Given the description of an element on the screen output the (x, y) to click on. 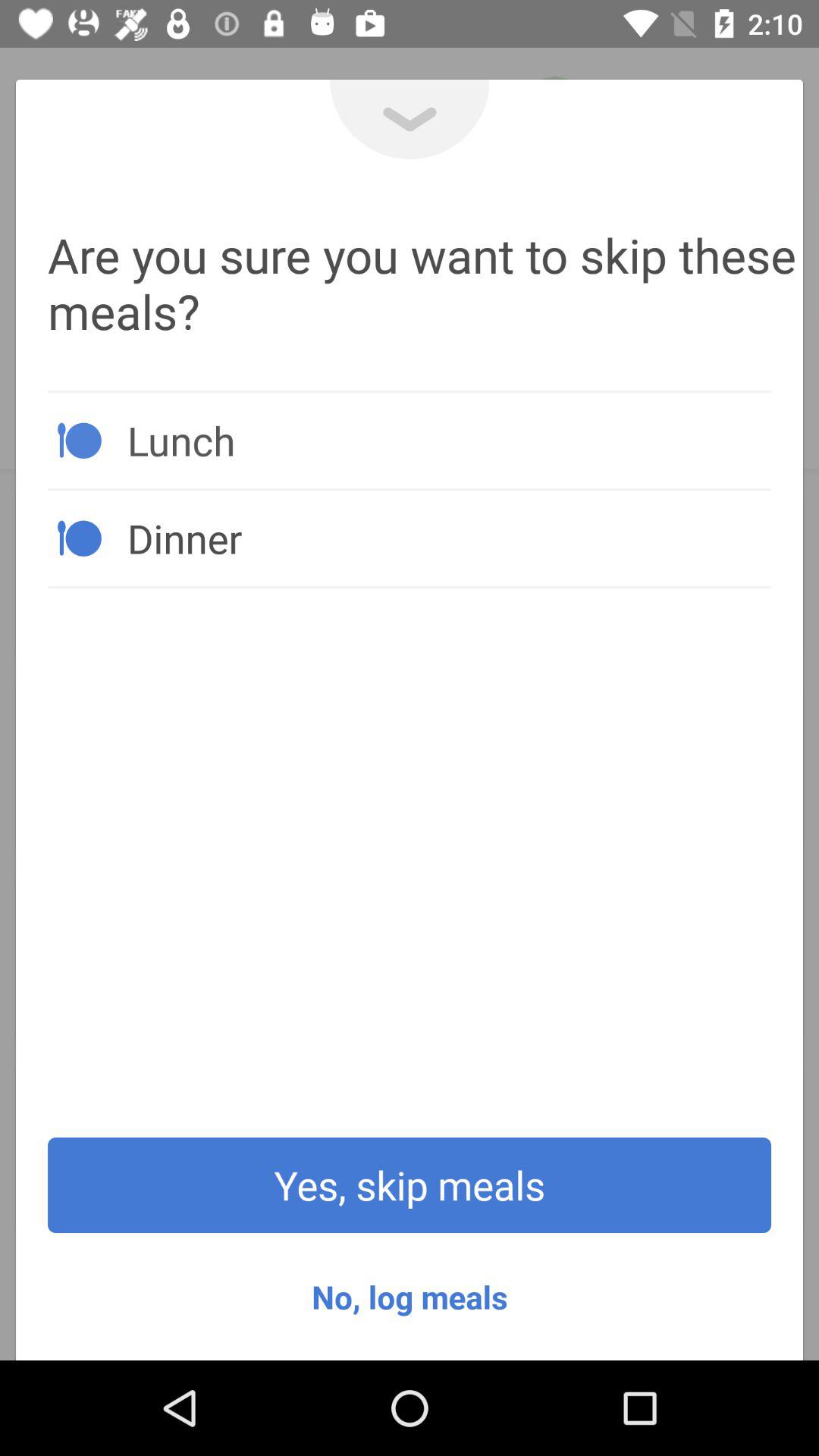
tap yes, skip meals item (409, 1185)
